Given the description of an element on the screen output the (x, y) to click on. 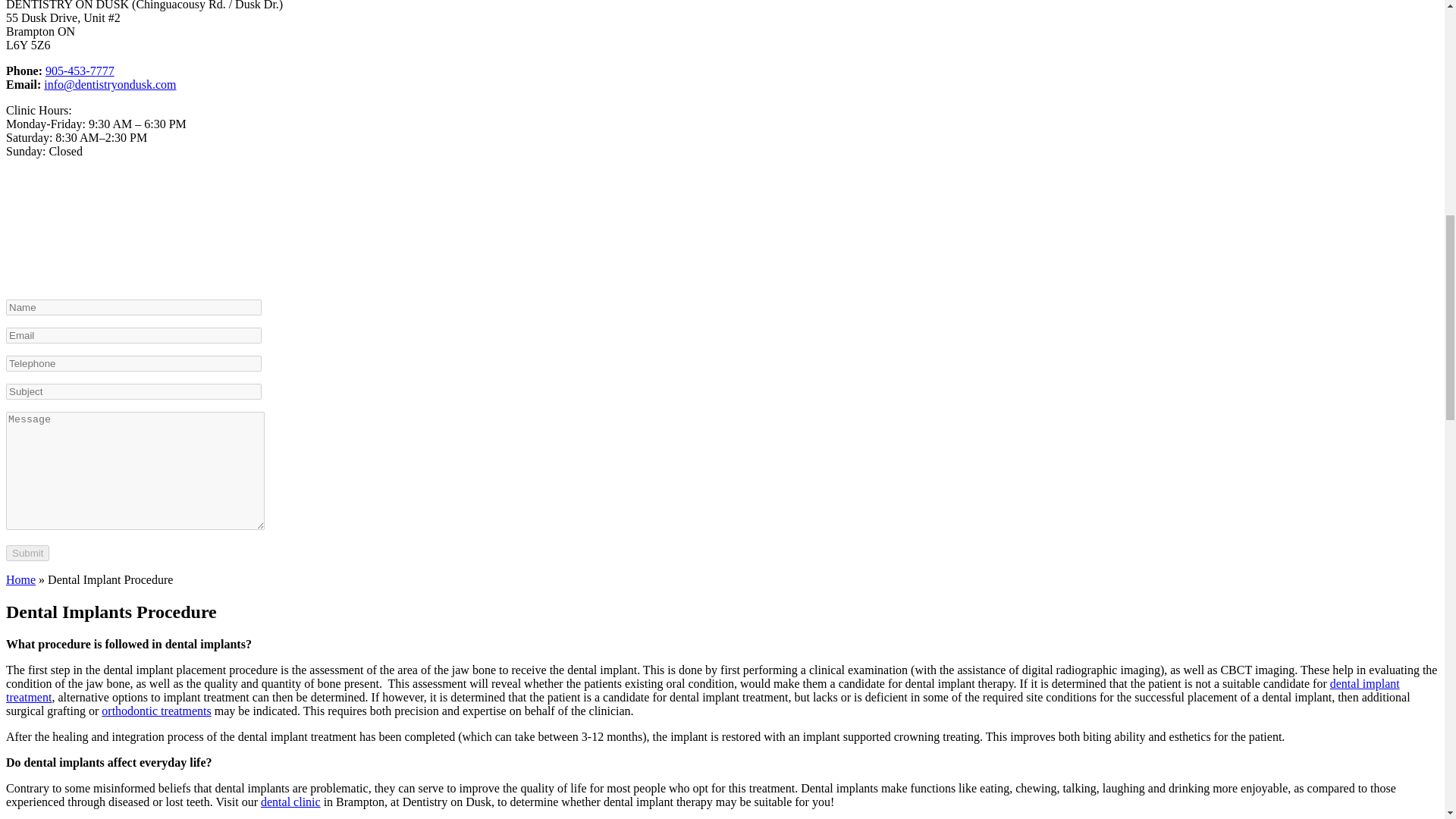
orthodontic treatments (156, 710)
dental clinic (290, 801)
Home (19, 579)
Submit (27, 553)
dental implant treatment (702, 690)
Submit (27, 553)
905-453-7777 (80, 70)
